Given the description of an element on the screen output the (x, y) to click on. 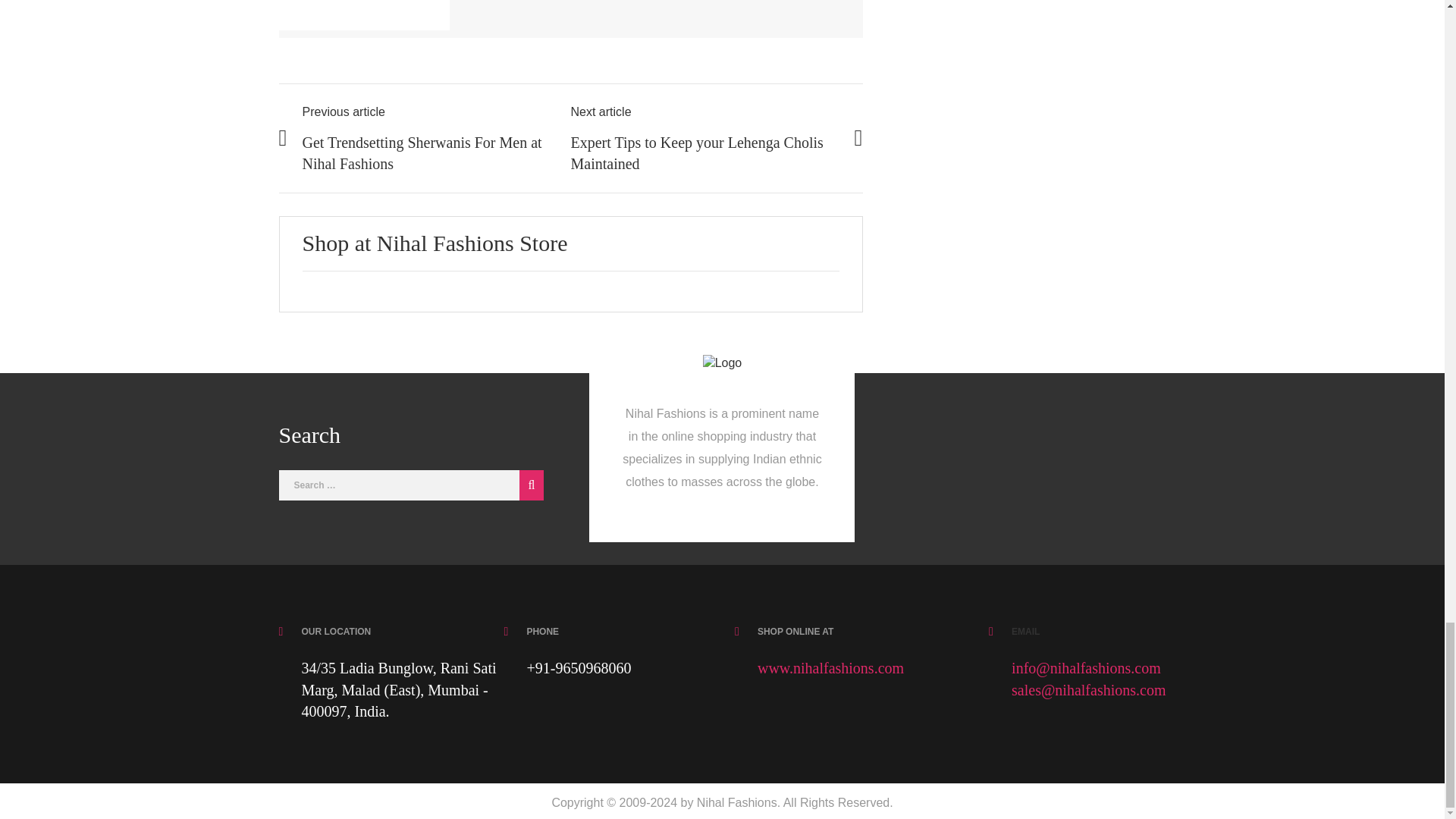
Search (528, 485)
Search (528, 485)
www.nihalfashions.com (830, 668)
EMAIL (1025, 631)
Shop at Nihal Fashions Store (434, 242)
Search (528, 485)
